Given the description of an element on the screen output the (x, y) to click on. 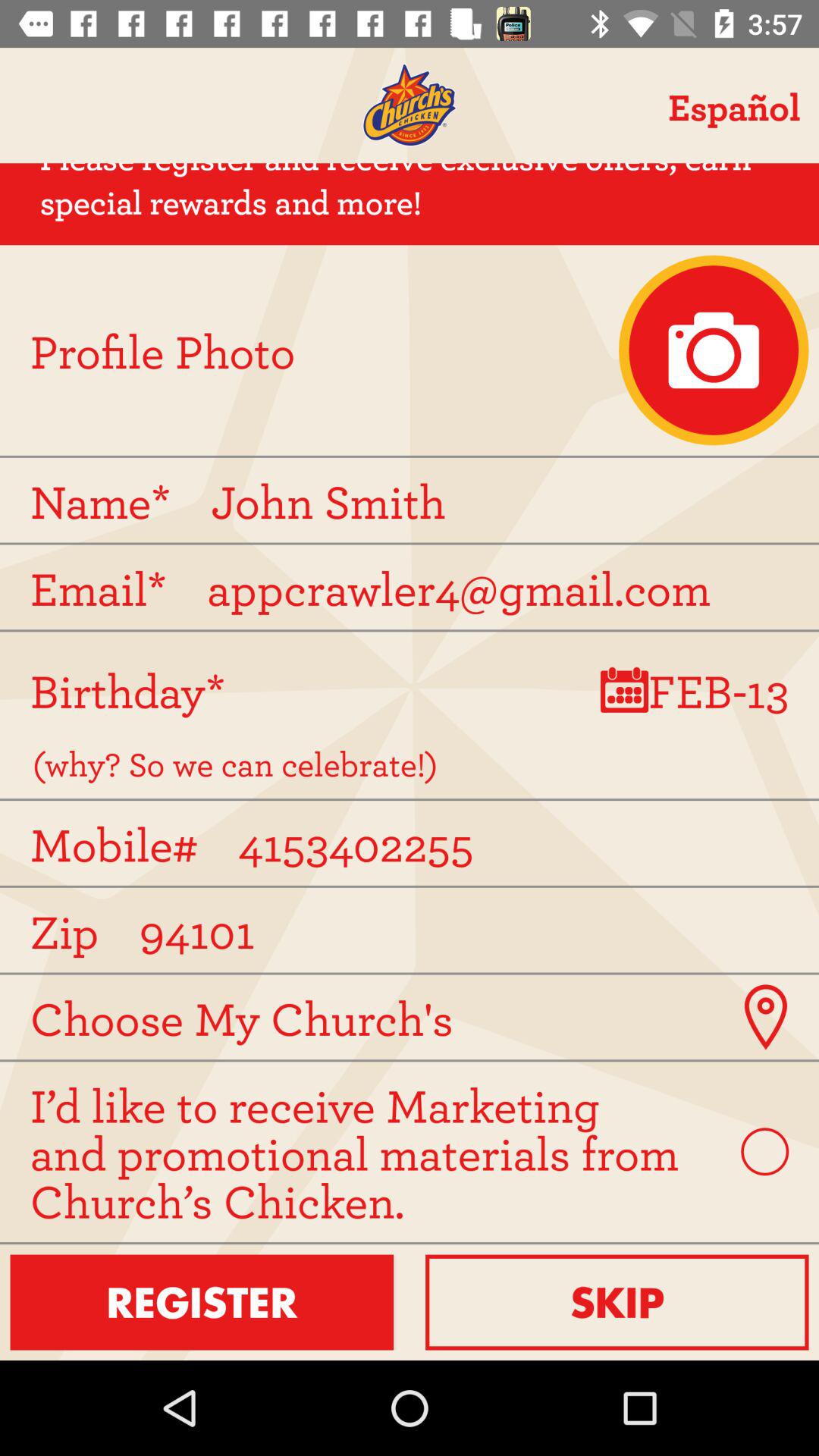
profile photo (713, 350)
